Given the description of an element on the screen output the (x, y) to click on. 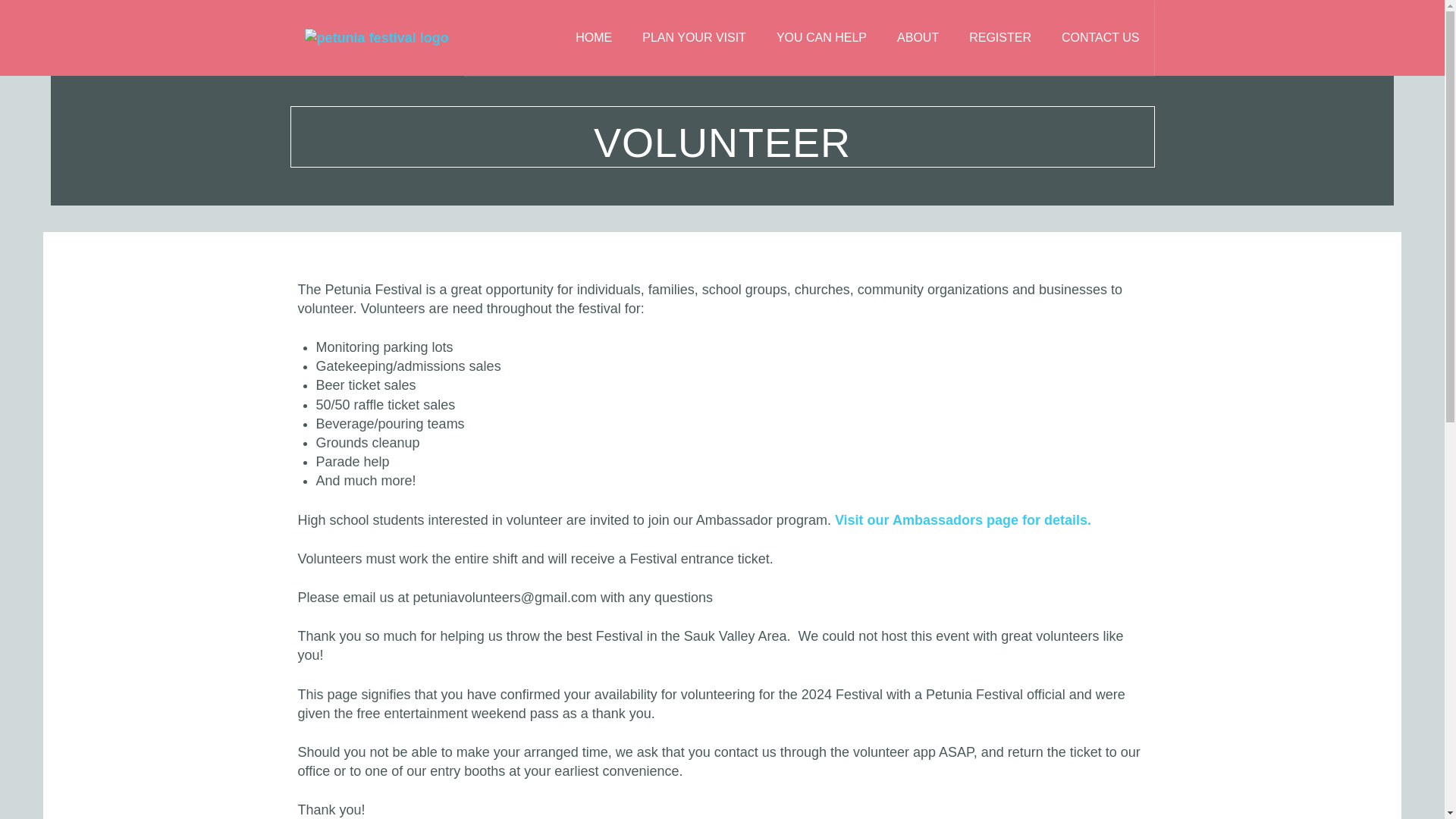
PLAN YOUR VISIT (694, 38)
CONTACT US (1100, 38)
YOU CAN HELP (821, 38)
REGISTER (999, 38)
ABOUT (917, 38)
